Given the description of an element on the screen output the (x, y) to click on. 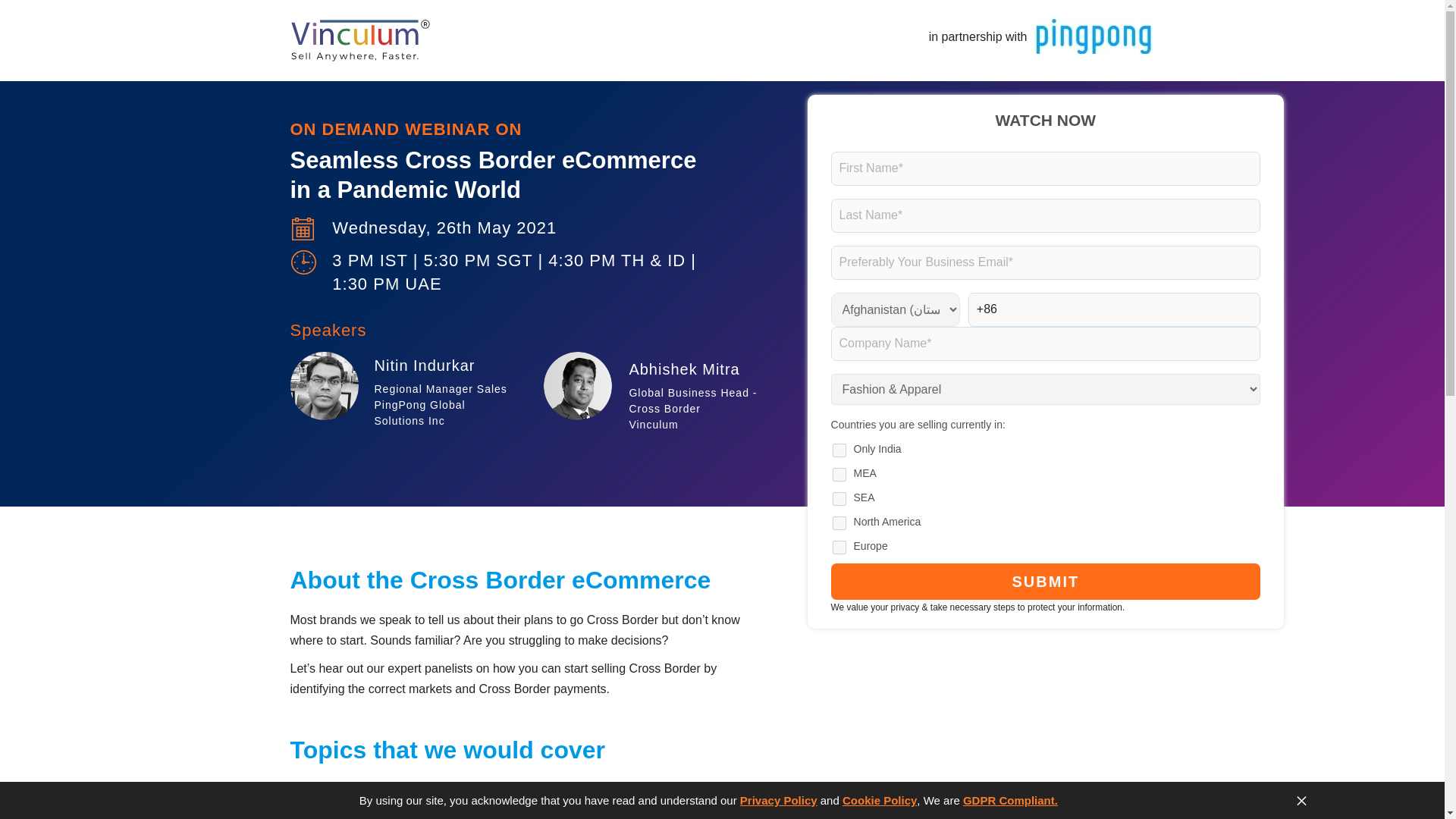
clock (302, 261)
Nitin (323, 386)
MEA (838, 474)
Only India (838, 450)
Privacy Policy (777, 799)
Cookie Policy (880, 799)
Vinculum-logo-new-r (359, 40)
Europe (838, 547)
calnder (301, 228)
Submit (1045, 581)
